Given the description of an element on the screen output the (x, y) to click on. 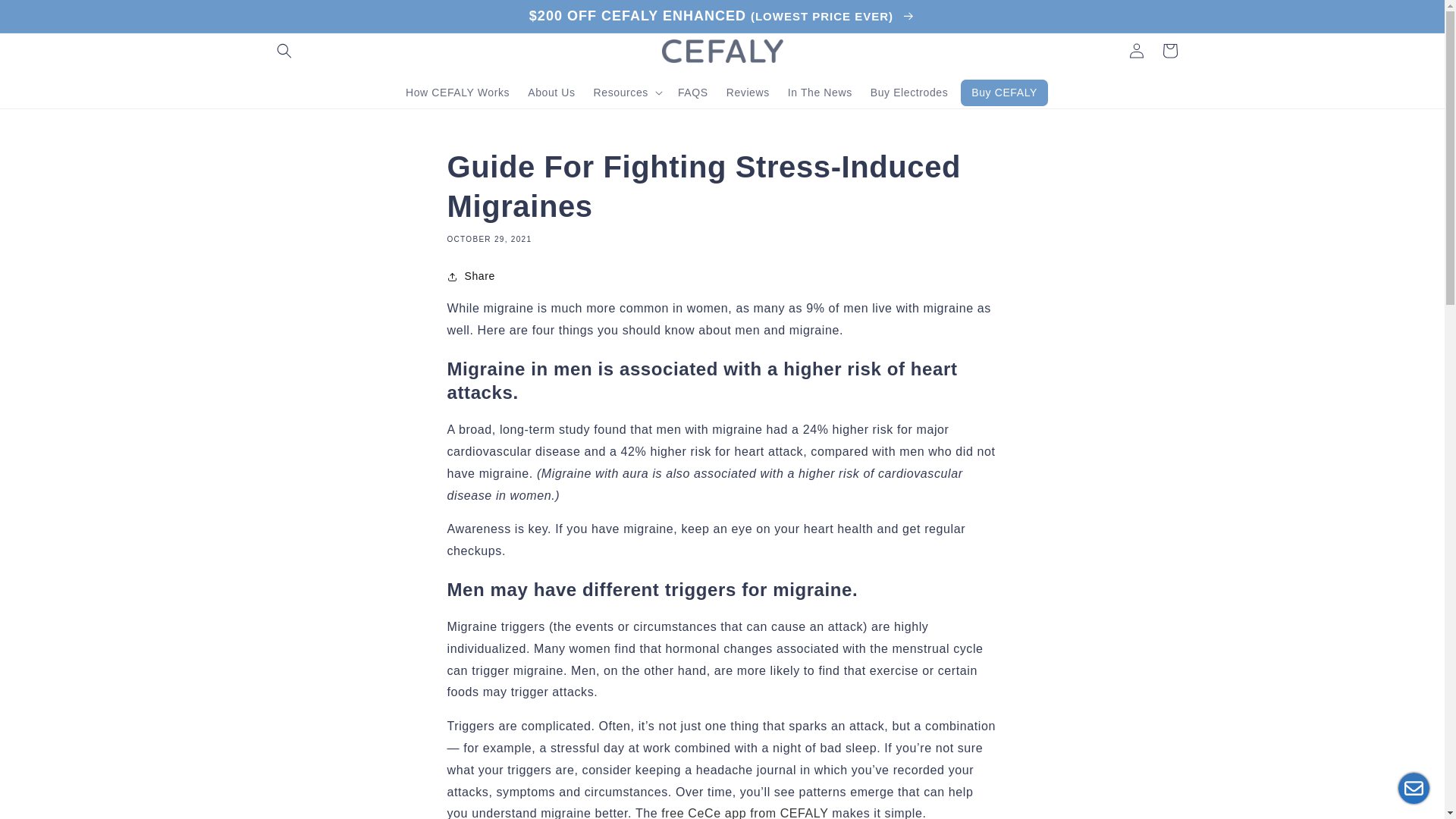
About Us (550, 92)
Skip to content (45, 17)
Reviews (747, 92)
How CEFALY Works (457, 92)
FAQS (692, 92)
